Given the description of an element on the screen output the (x, y) to click on. 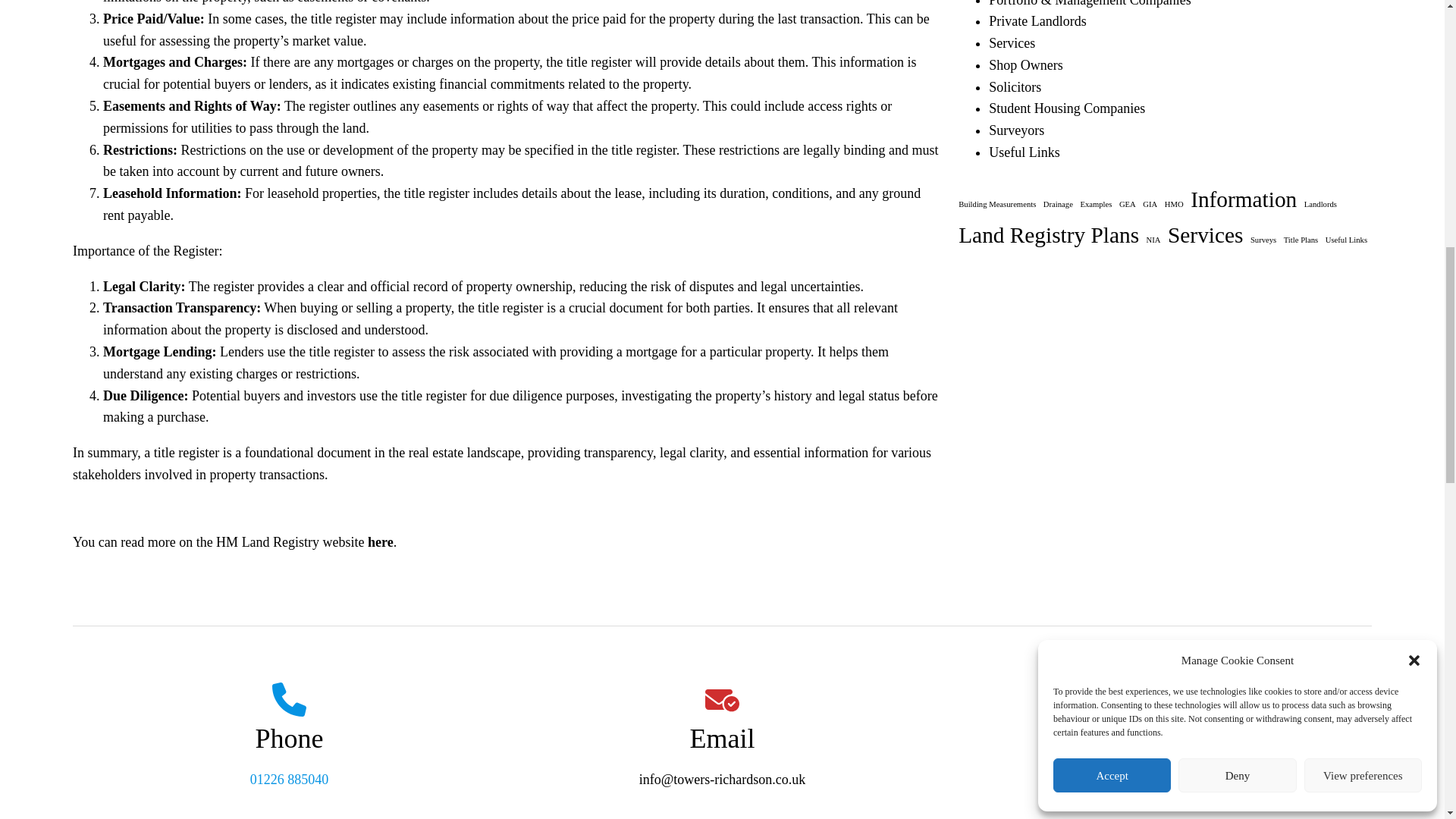
here (380, 541)
